Given the description of an element on the screen output the (x, y) to click on. 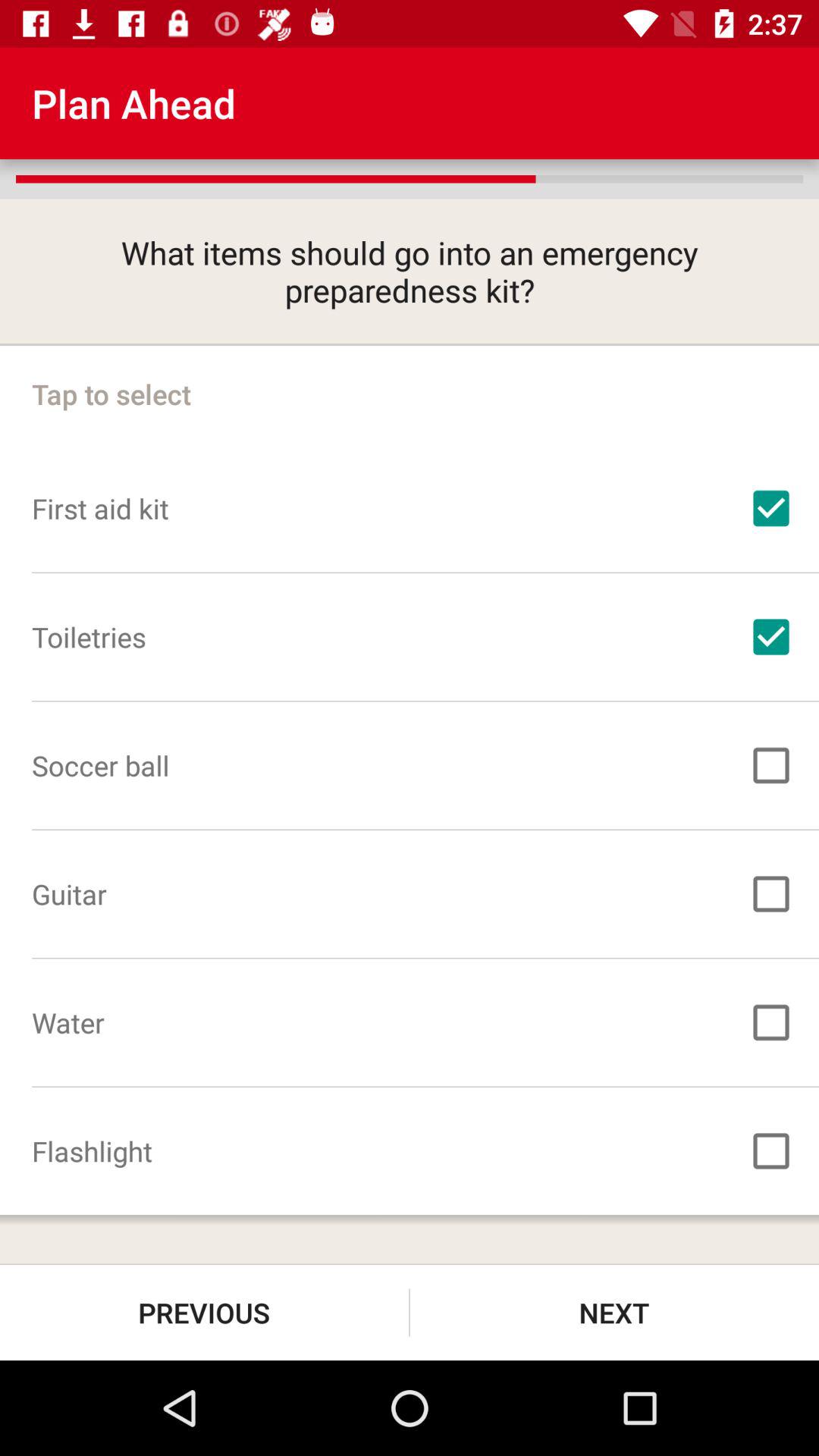
jump to next item (614, 1312)
